Given the description of an element on the screen output the (x, y) to click on. 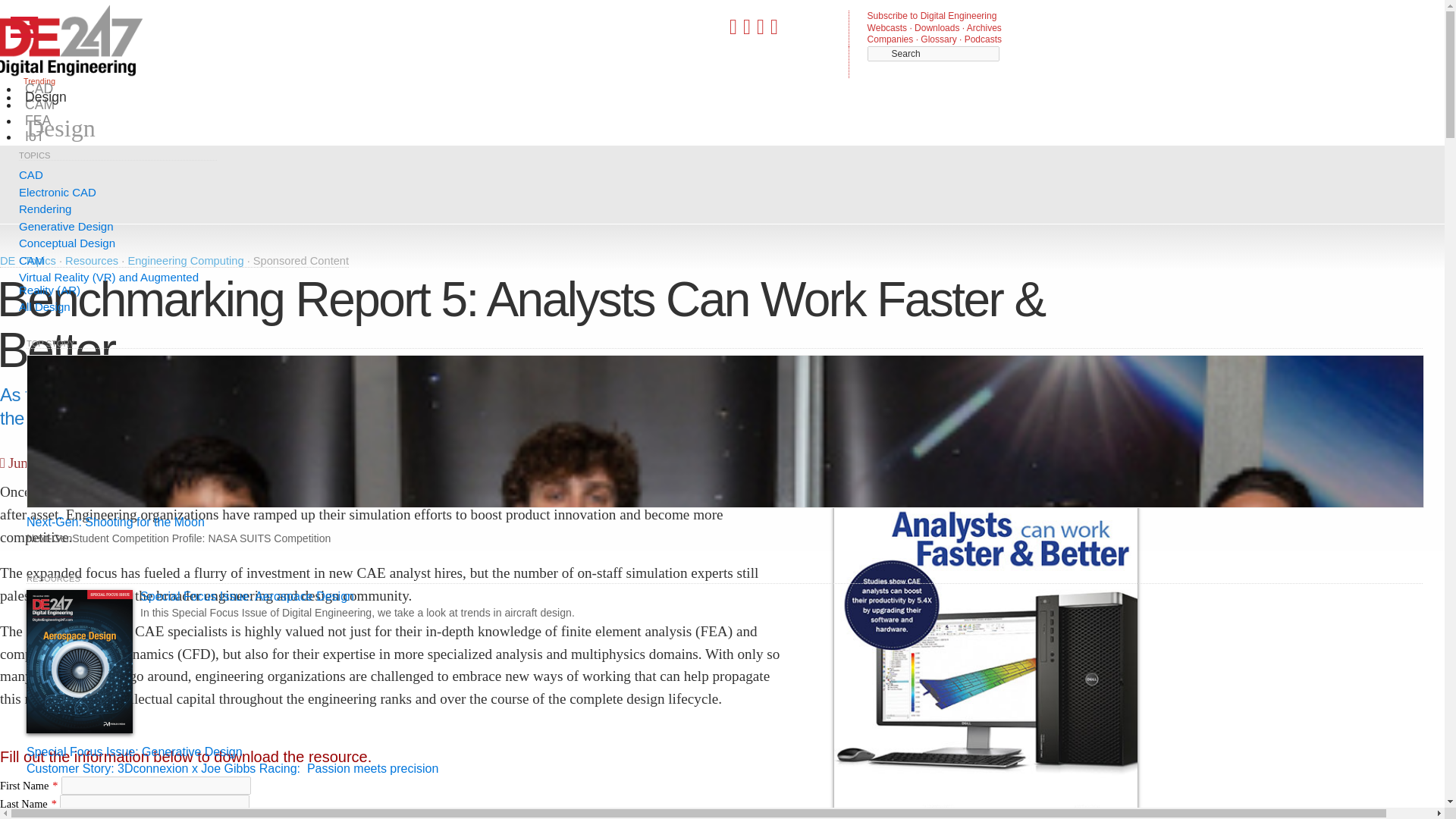
3rd party ad content (571, 182)
